Given the description of an element on the screen output the (x, y) to click on. 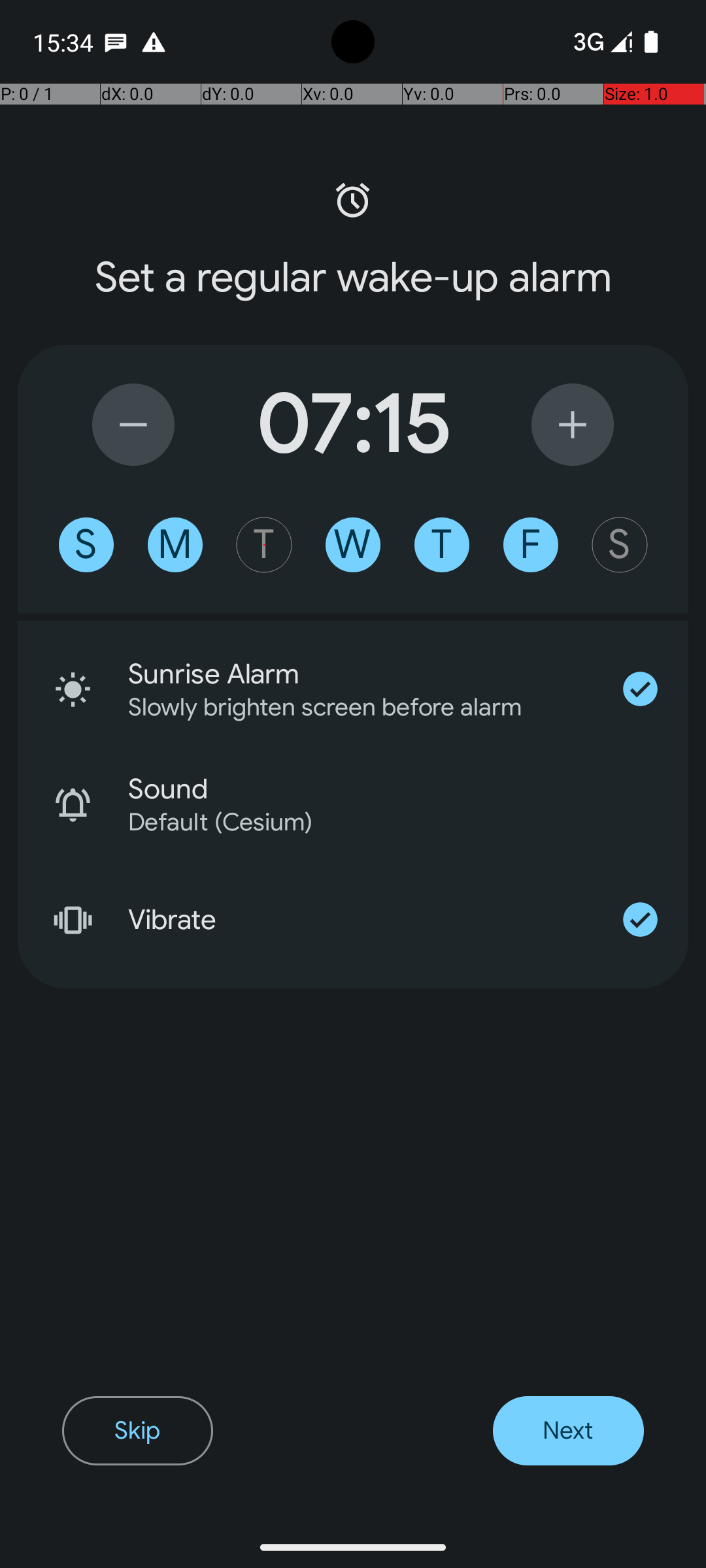
Set a regular wake-up alarm Element type: android.widget.TextView (352, 277)
Fifteen minutes earlier Element type: android.widget.ImageView (133, 424)
07:15 Element type: android.widget.TextView (353, 424)
Fifteen minutes later Element type: android.widget.ImageView (572, 424)
S Element type: android.widget.CheckBox (86, 544)
M Element type: android.widget.CheckBox (175, 544)
T Element type: android.widget.CheckBox (263, 544)
W Element type: android.widget.CheckBox (352, 544)
F Element type: android.widget.CheckBox (530, 544)
Skip Element type: android.widget.Button (137, 1430)
Next Element type: android.widget.Button (567, 1430)
Sunrise Alarm Element type: android.widget.TextView (360, 673)
Slowly brighten screen before alarm Element type: android.widget.TextView (342, 706)
Sound Element type: android.widget.TextView (408, 788)
Default (Cesium) Element type: android.widget.TextView (390, 821)
Vibrate Element type: android.widget.TextView (360, 919)
